Given the description of an element on the screen output the (x, y) to click on. 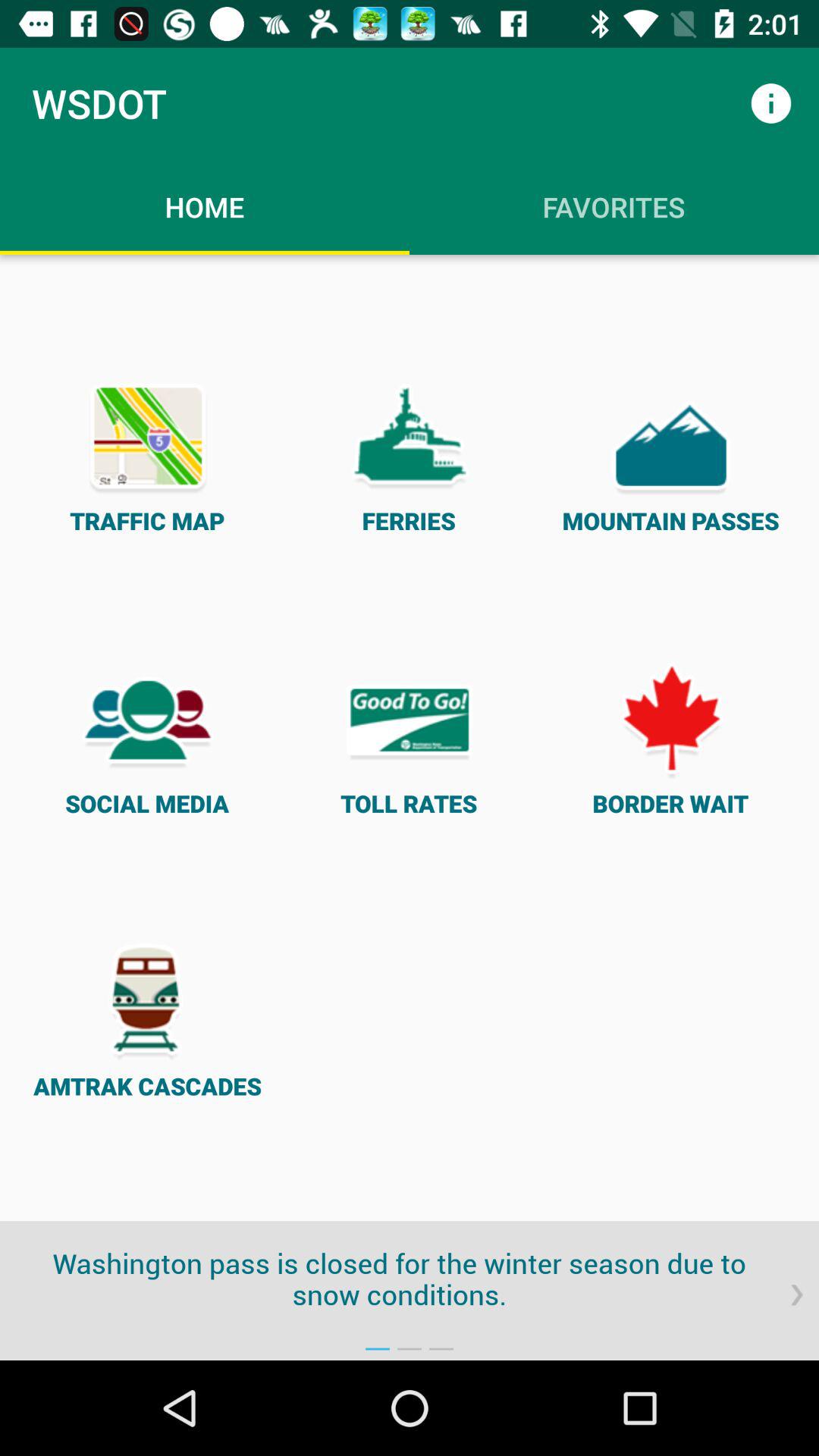
tap the amtrak cascades at the bottom left corner (147, 1020)
